Given the description of an element on the screen output the (x, y) to click on. 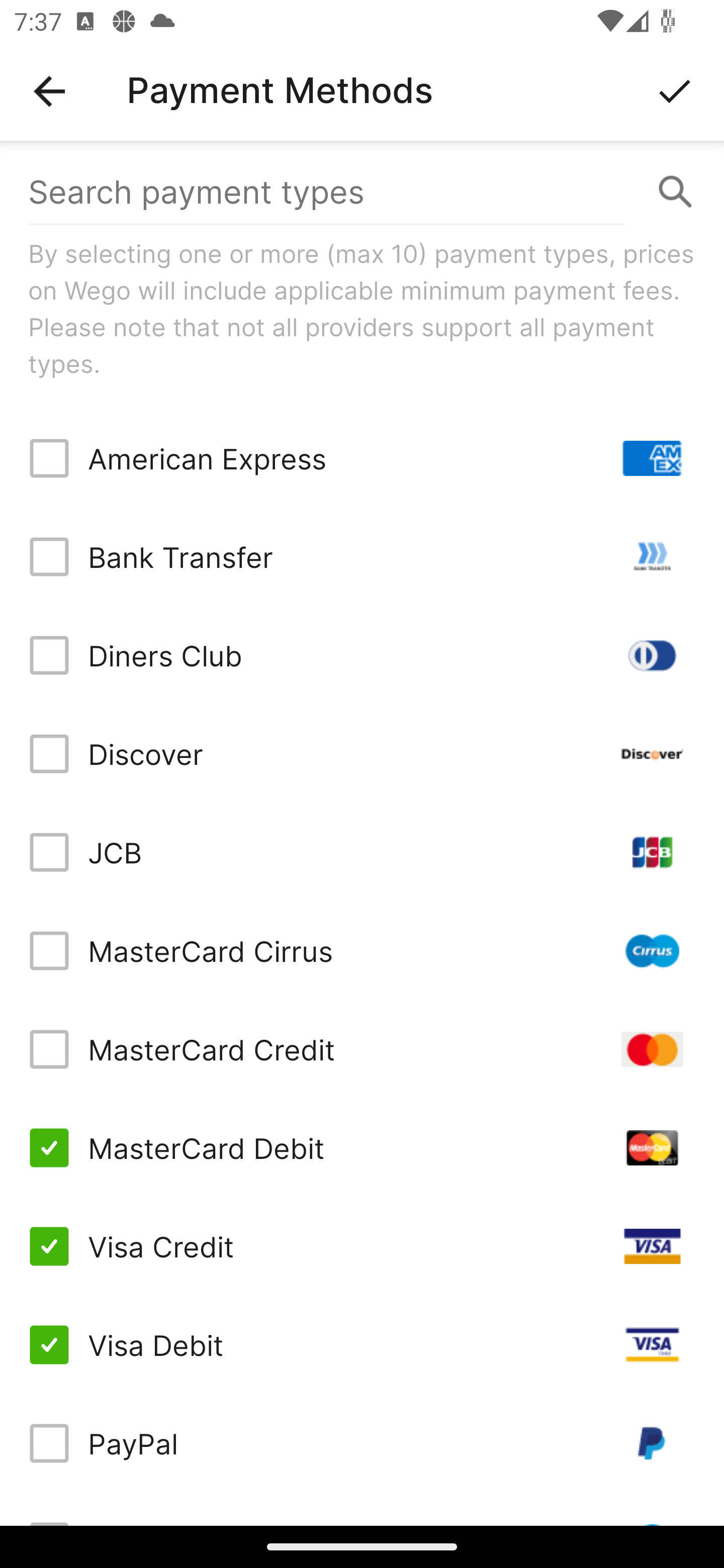
Search payment types  (361, 191)
American Express (362, 458)
Bank Transfer (362, 557)
Diners Club (362, 655)
Discover (362, 753)
JCB (362, 851)
MasterCard Cirrus (362, 950)
MasterCard Credit (362, 1049)
MasterCard Debit (362, 1147)
Visa Credit (362, 1245)
Visa Debit (362, 1344)
PayPal (362, 1442)
